Given the description of an element on the screen output the (x, y) to click on. 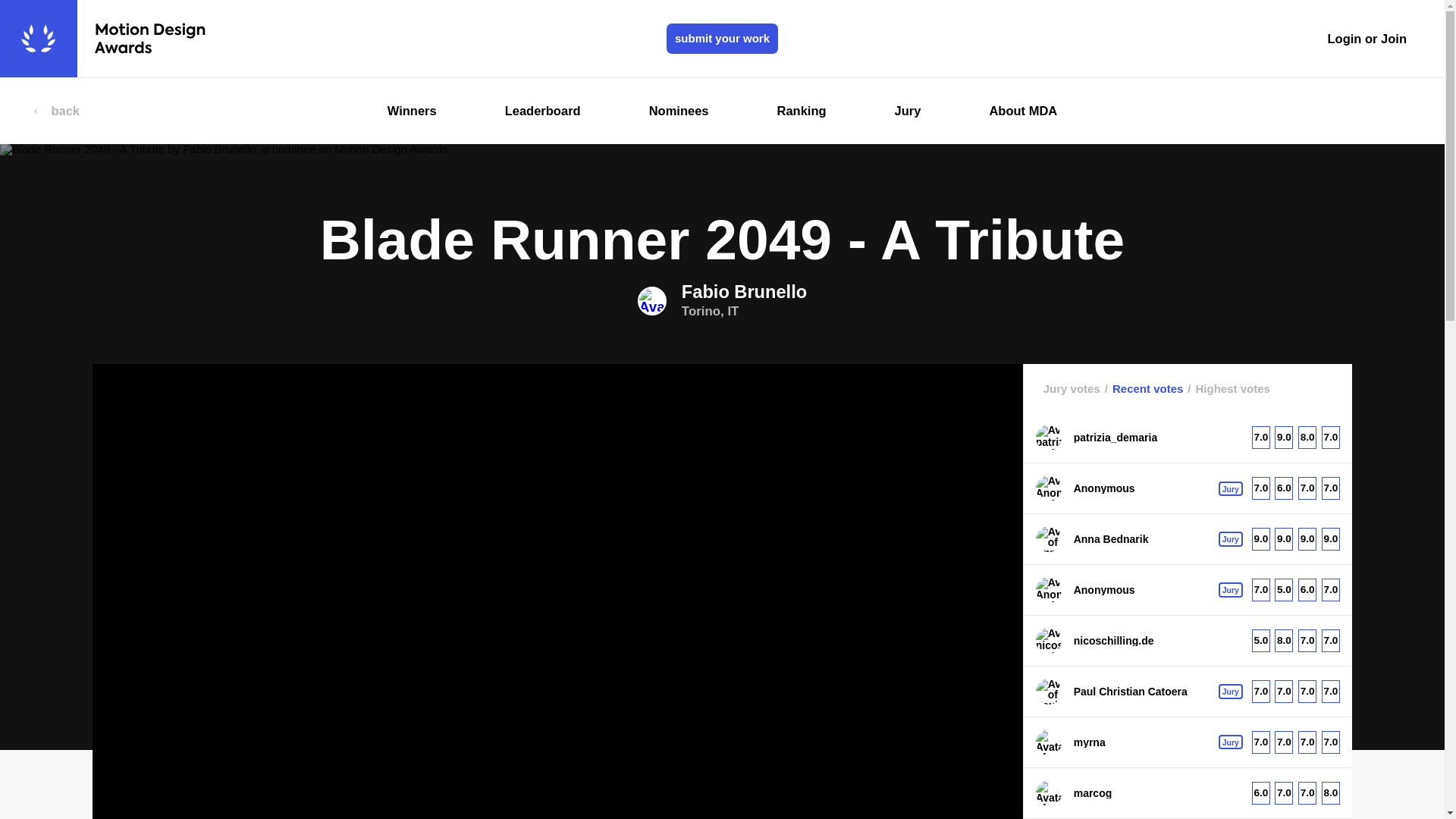
Recent votes (1141, 388)
Jury (907, 110)
Jury votes (1071, 388)
submit your work (721, 38)
About MDA (1022, 110)
back (56, 110)
Highest votes (1225, 388)
Winners (411, 110)
Ranking (801, 110)
Nominees (678, 110)
Login or Join (1366, 38)
Leaderboard (721, 300)
